Given the description of an element on the screen output the (x, y) to click on. 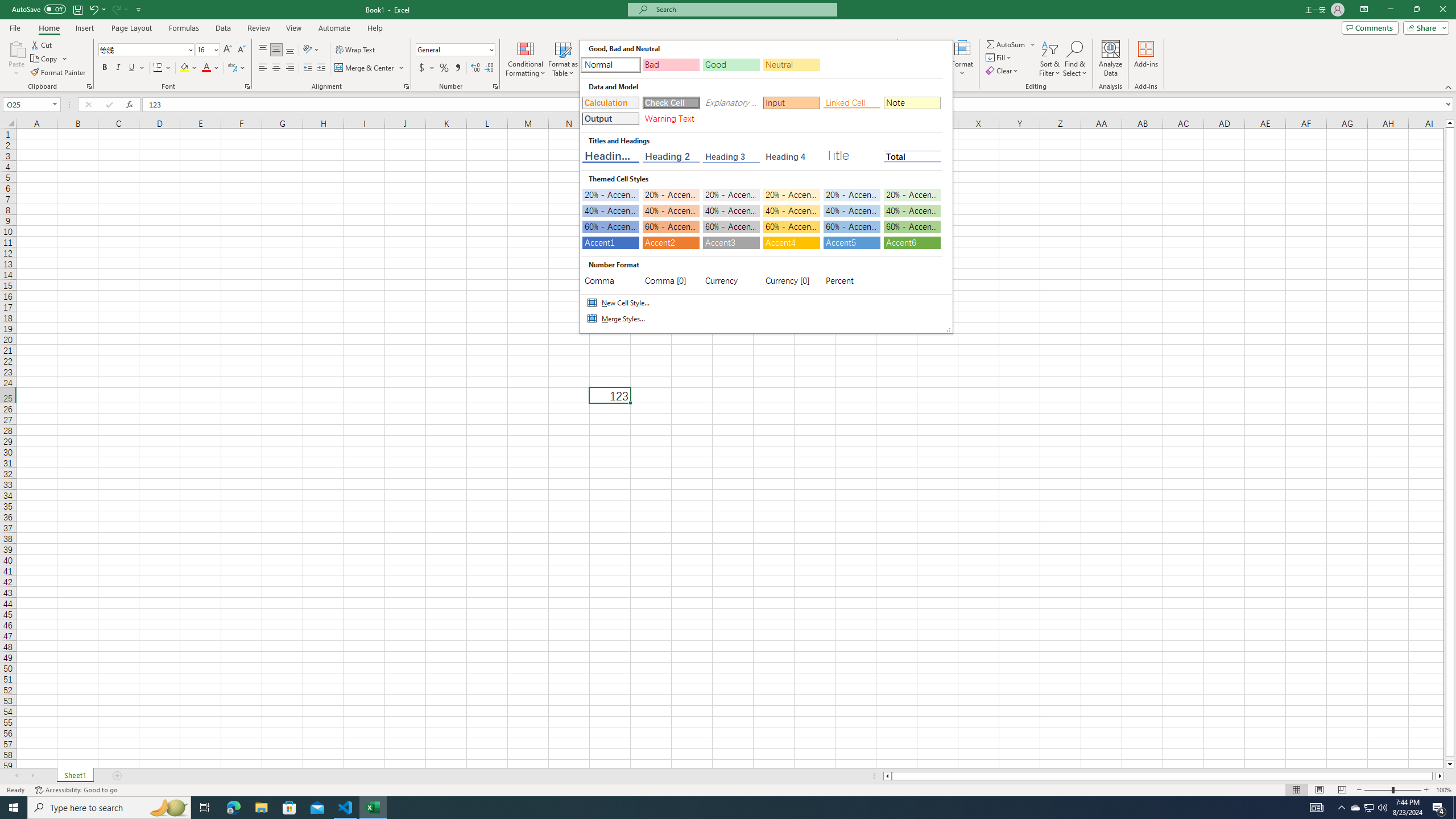
Excel - 1 running window (373, 807)
Decrease Indent (307, 67)
Microsoft Store (289, 807)
Font Size (207, 49)
Font Color (210, 67)
Notification Chevron (1341, 807)
Visual Studio Code - 1 running window (345, 807)
